Given the description of an element on the screen output the (x, y) to click on. 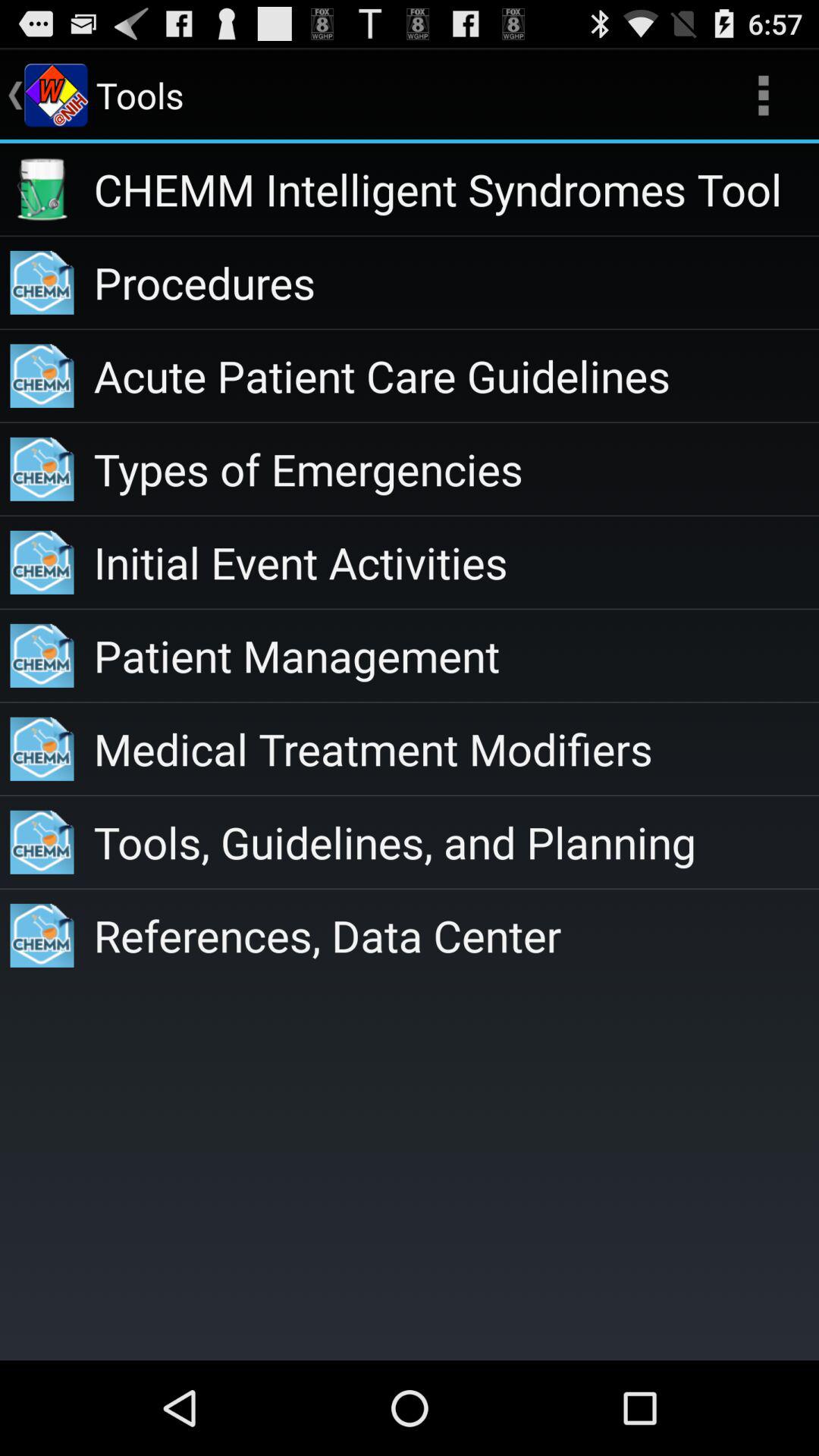
choose item next to tools (763, 95)
